Given the description of an element on the screen output the (x, y) to click on. 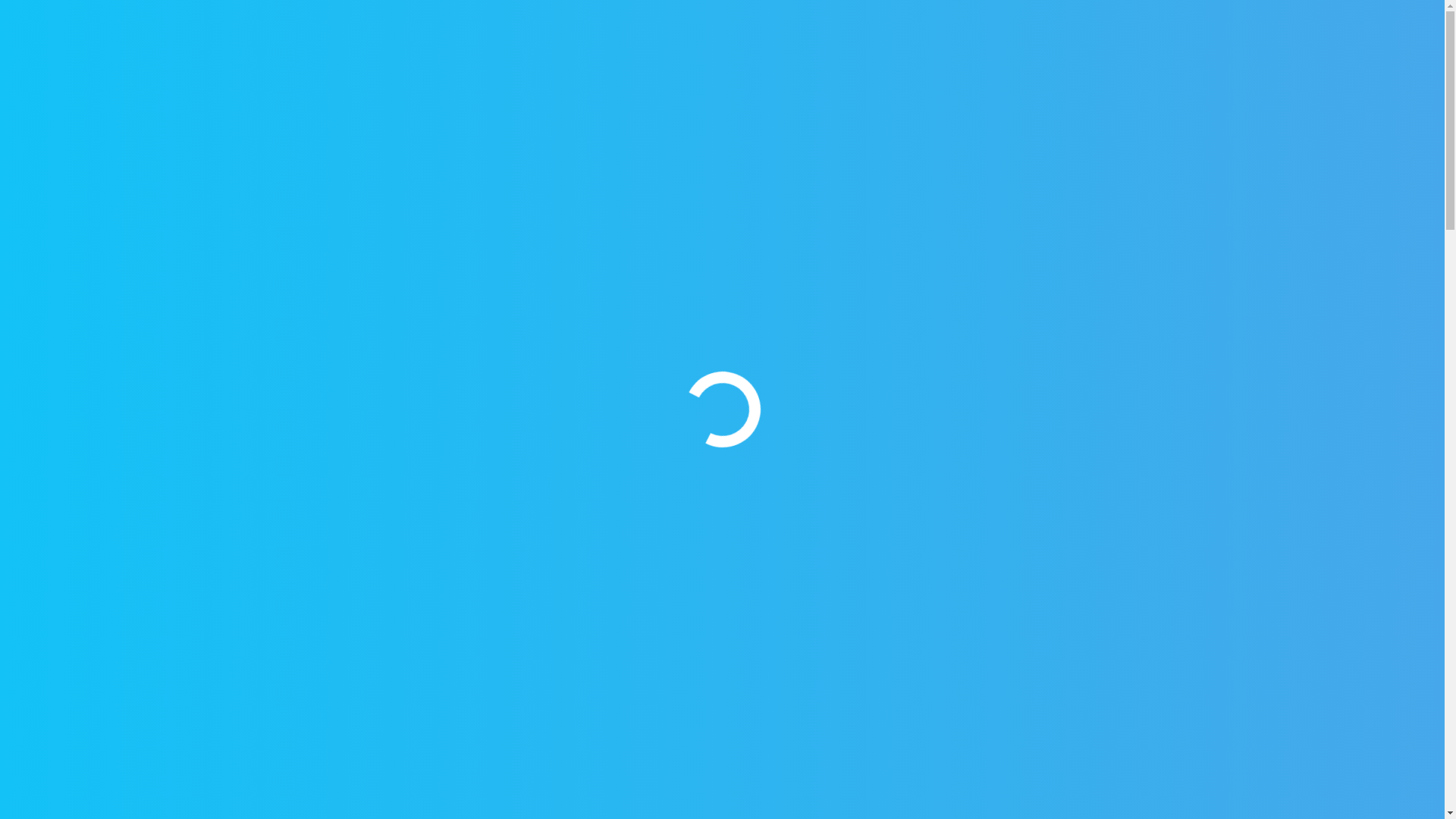
curves connect visitors (506, 256)
Admin (686, 456)
Go (1194, 66)
Search here (374, 429)
Go (473, 429)
Contact (1173, 67)
Support (207, 16)
Packages and Pricing (1071, 67)
Go (473, 429)
View all posts by admin (686, 456)
Home (370, 256)
View Plans (1336, 67)
Request Callback (99, 16)
